Given the description of an element on the screen output the (x, y) to click on. 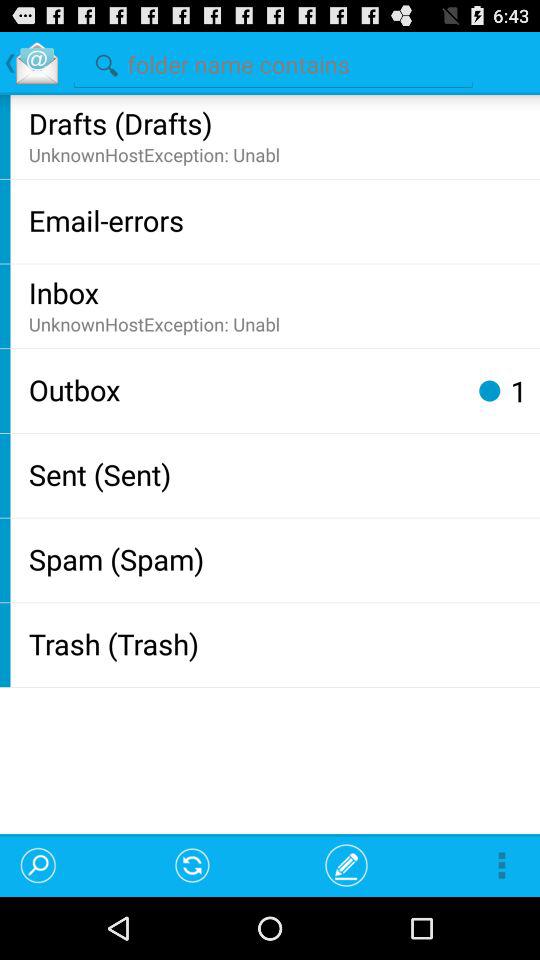
enter word s to search (273, 61)
